Given the description of an element on the screen output the (x, y) to click on. 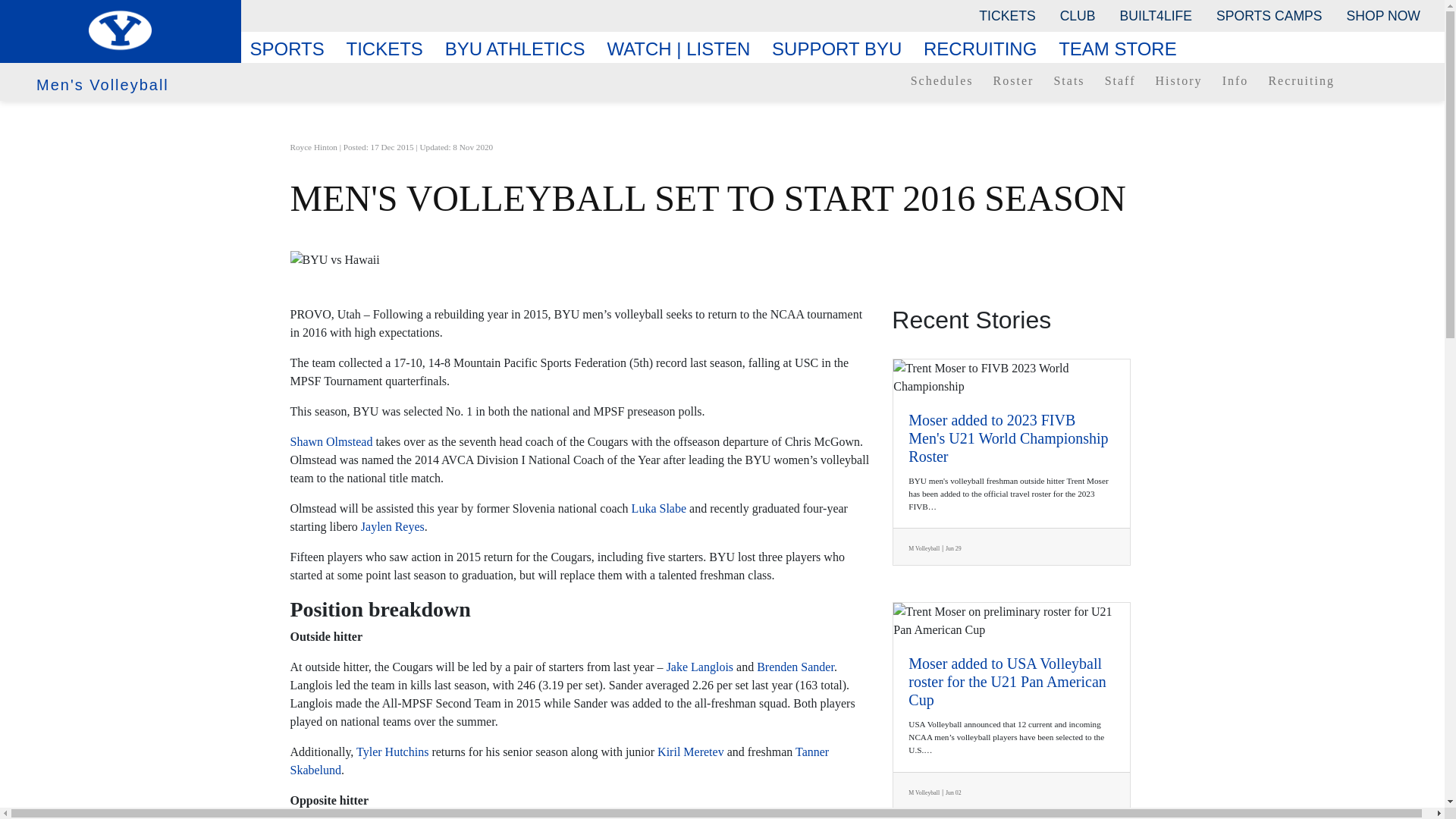
BUILT4LIFE (1156, 15)
CLUB (1078, 15)
SPORTS (292, 49)
SPORTS CAMPS (1268, 15)
TICKETS (1006, 15)
SHOP NOW (1383, 15)
BYU vs Hawaii (721, 259)
